Given the description of an element on the screen output the (x, y) to click on. 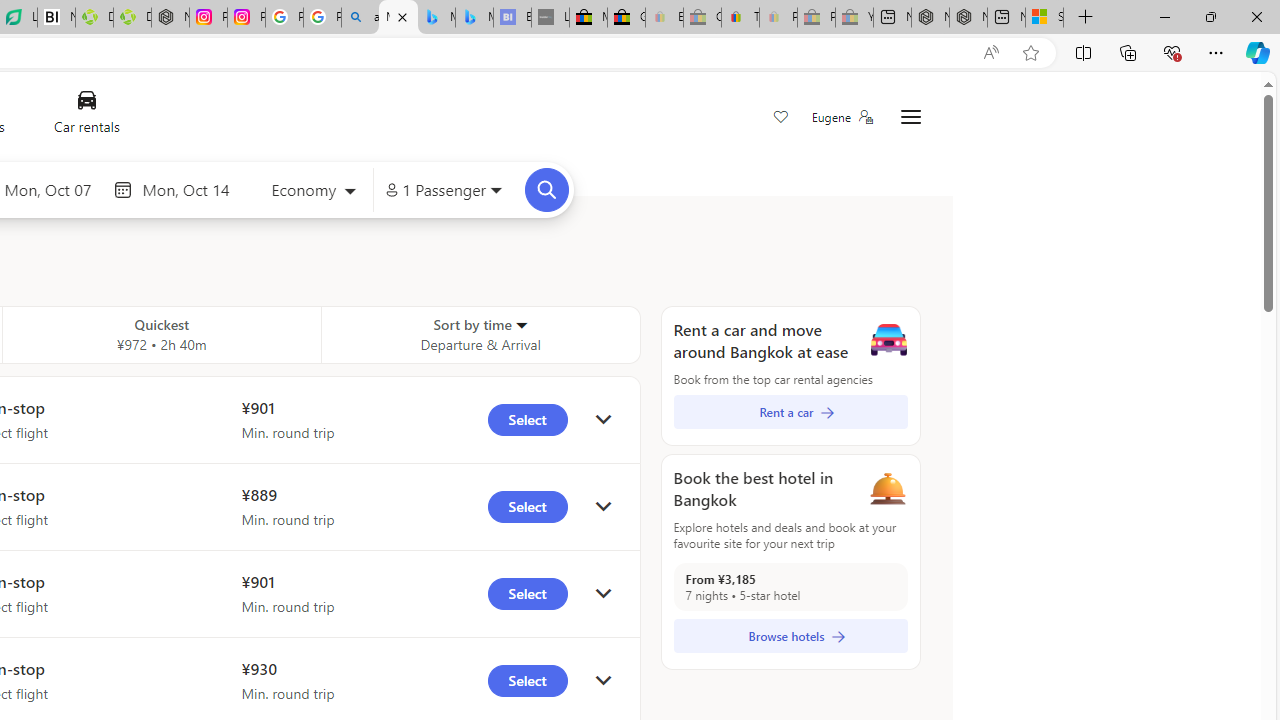
Nordace - Nordace Edin Collection (170, 17)
Rent a car (790, 412)
Nordace - Summer Adventures 2024 (967, 17)
Threats and offensive language policy | eBay (740, 17)
Microsoft Bing Travel - Flights from Hong Kong to Bangkok (398, 17)
Browse hotels (790, 636)
Nvidia va a poner a prueba la paciencia de los inversores (56, 17)
